Given the description of an element on the screen output the (x, y) to click on. 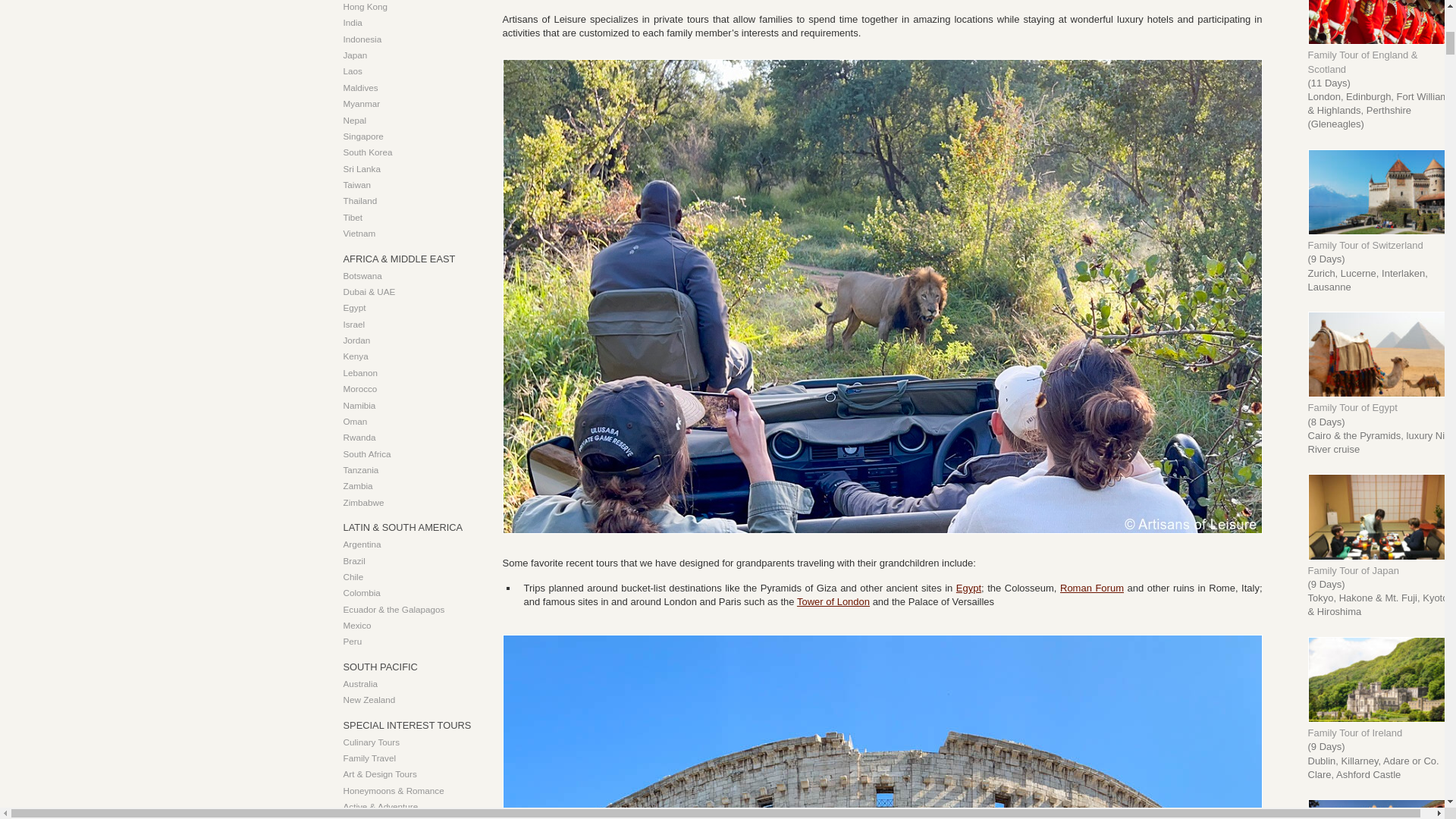
Family Tour of Japan (1381, 556)
Family Tour of Ireland (1381, 718)
Family Tour of Egypt (1381, 393)
Family Tour of Switzerland (1381, 231)
